Given the description of an element on the screen output the (x, y) to click on. 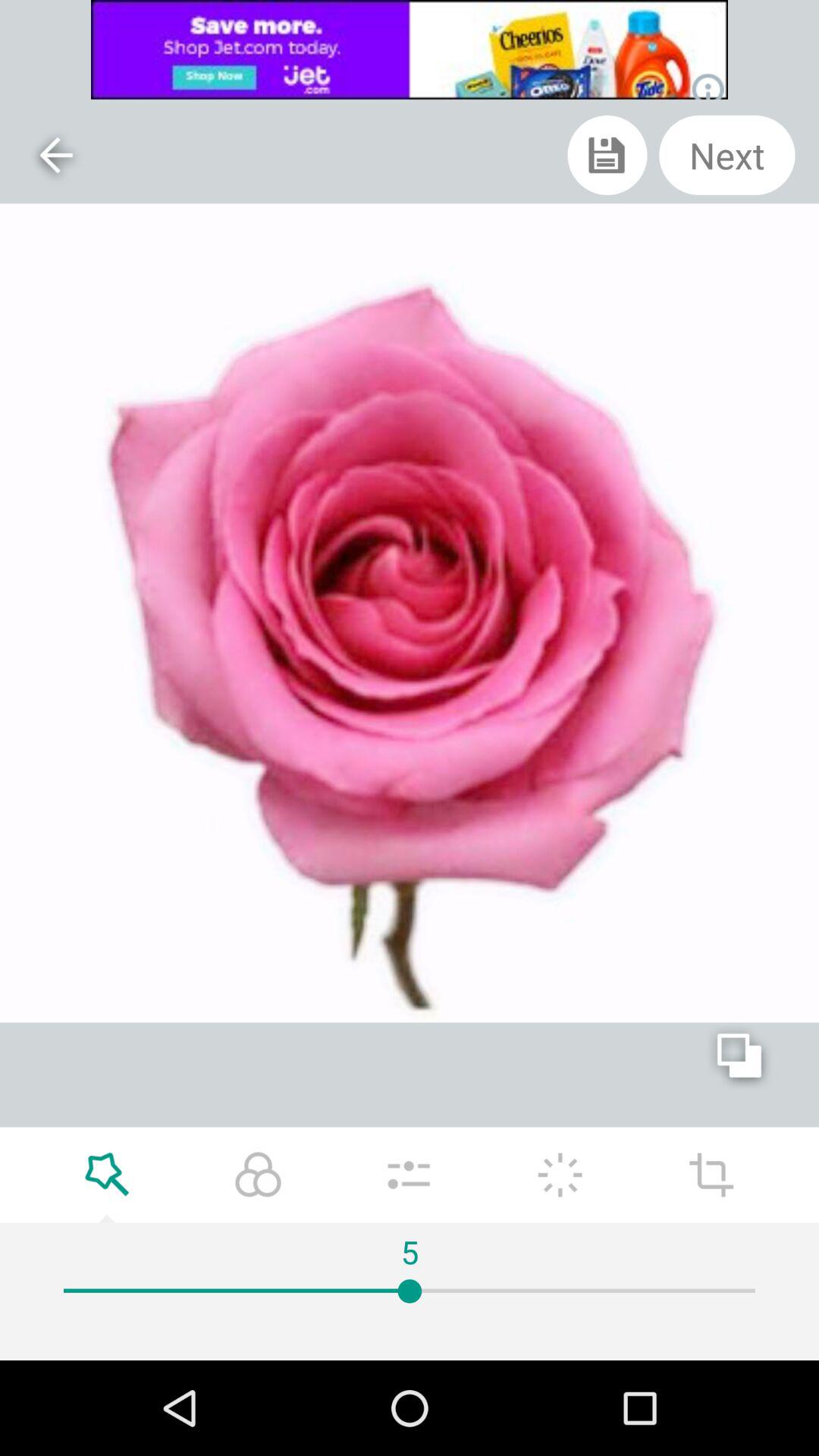
go to the previous page (55, 155)
